Given the description of an element on the screen output the (x, y) to click on. 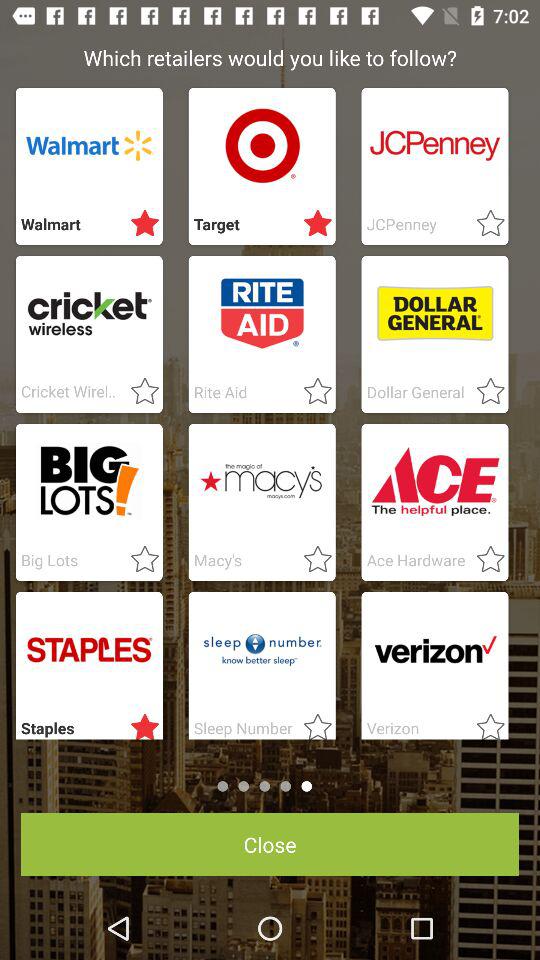
starmarks it (484, 224)
